Given the description of an element on the screen output the (x, y) to click on. 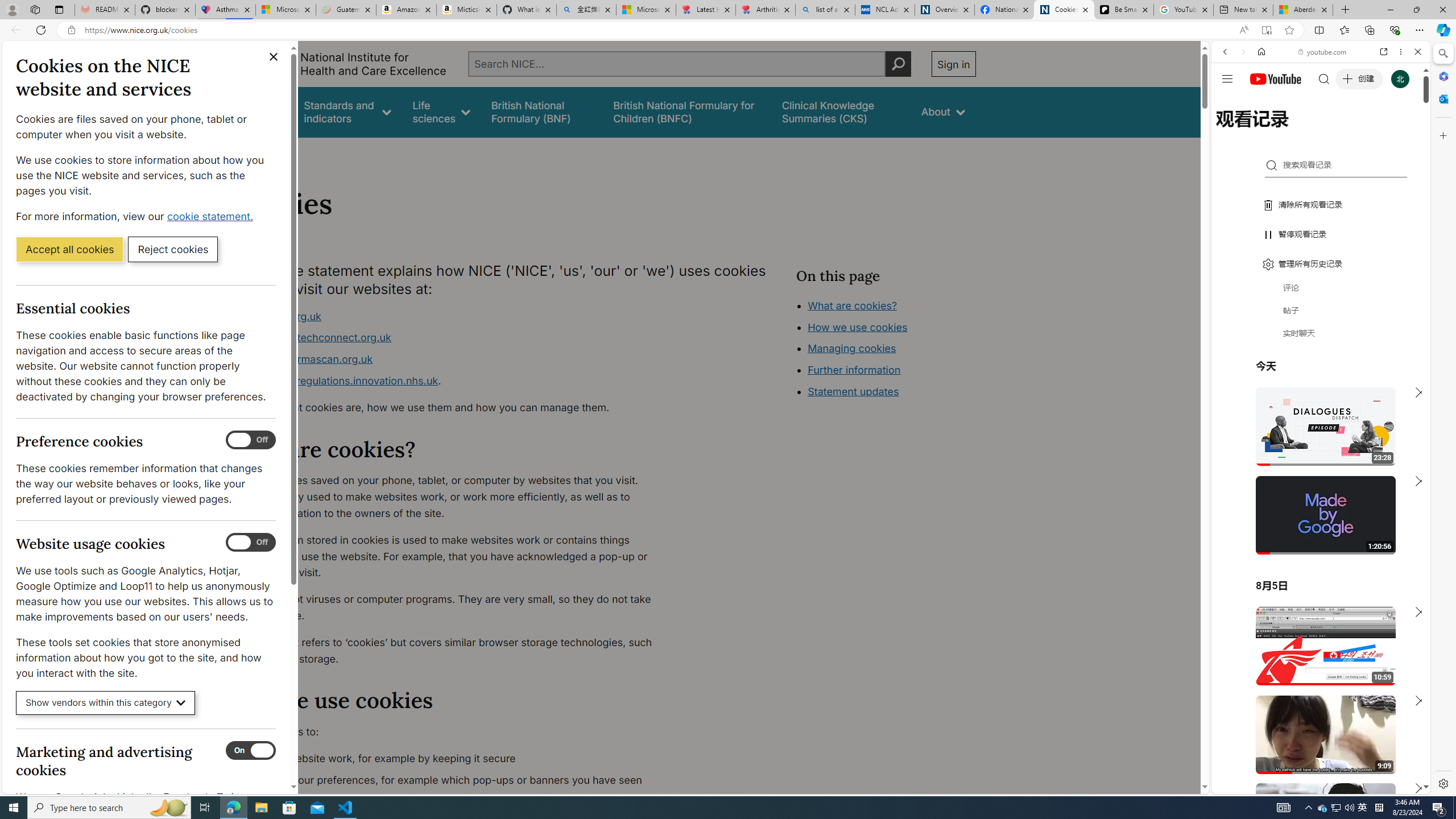
Trailer #2 [HD] (1320, 336)
youtube.com (1322, 51)
Search Filter, VIDEOS (1300, 129)
cookie statement. (Opens in a new window) (211, 215)
Cookies | About | NICE (1064, 9)
Web scope (1230, 102)
Global web icon (1232, 655)
Guidance (260, 111)
